Given the description of an element on the screen output the (x, y) to click on. 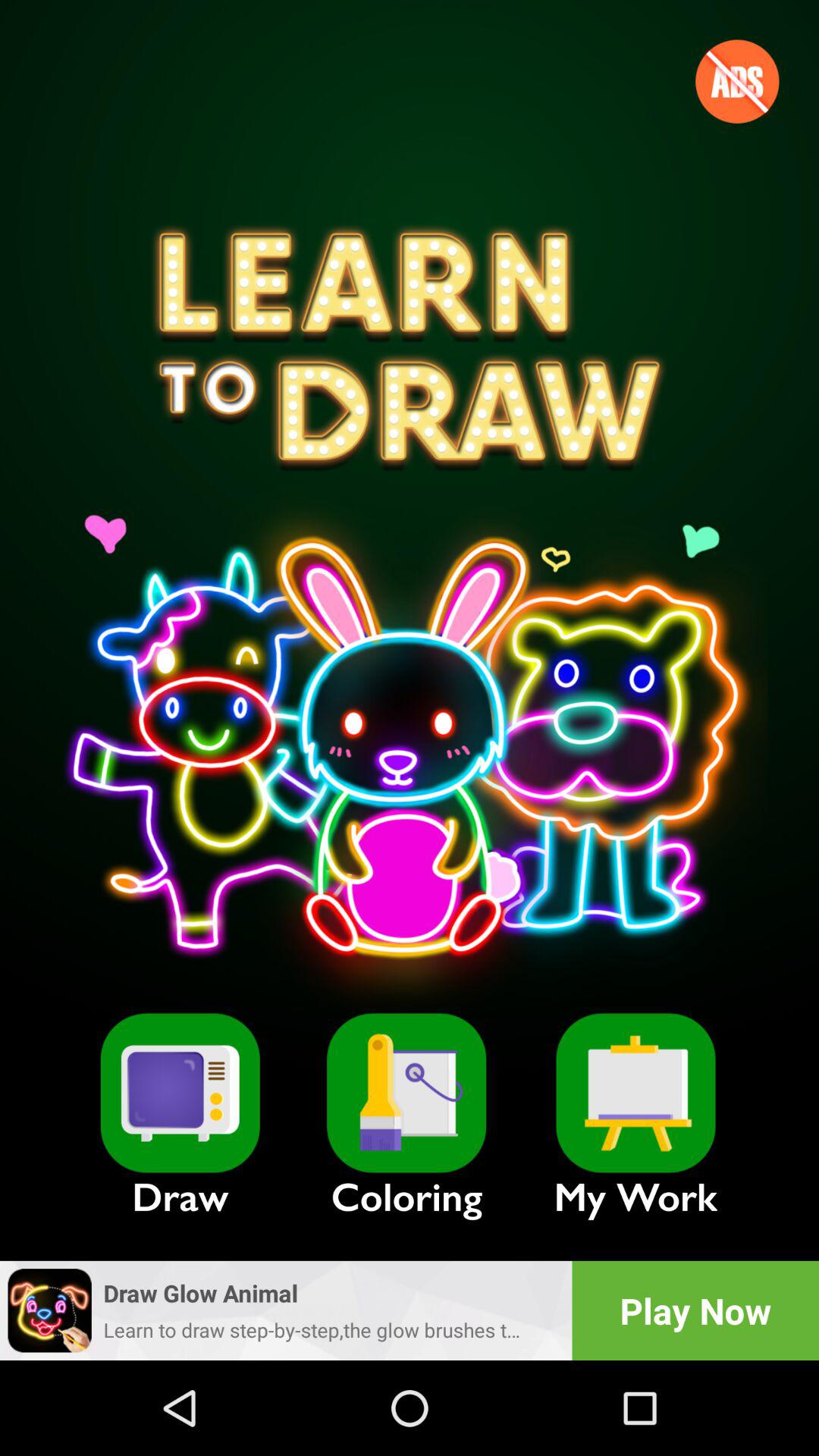
disable advertisements (737, 81)
